Given the description of an element on the screen output the (x, y) to click on. 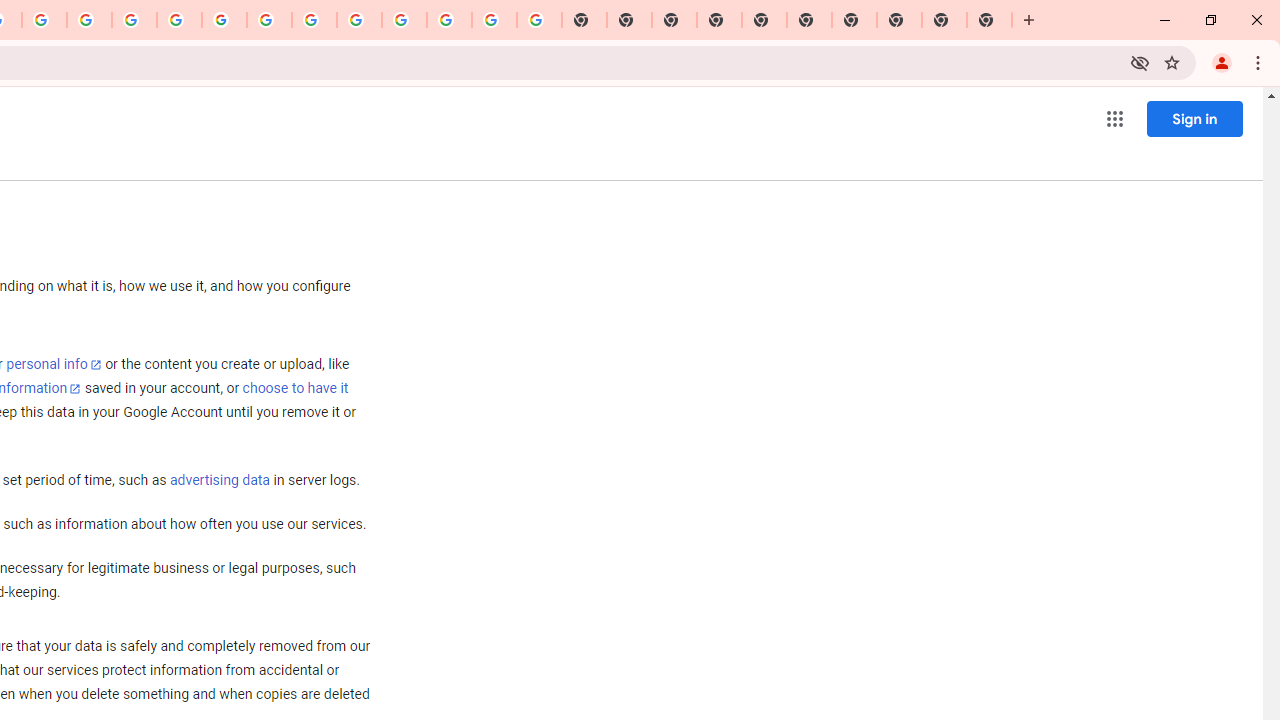
New Tab (719, 20)
advertising data (219, 481)
personal info (54, 364)
YouTube (269, 20)
Privacy Help Center - Policies Help (134, 20)
Privacy Help Center - Policies Help (89, 20)
